Given the description of an element on the screen output the (x, y) to click on. 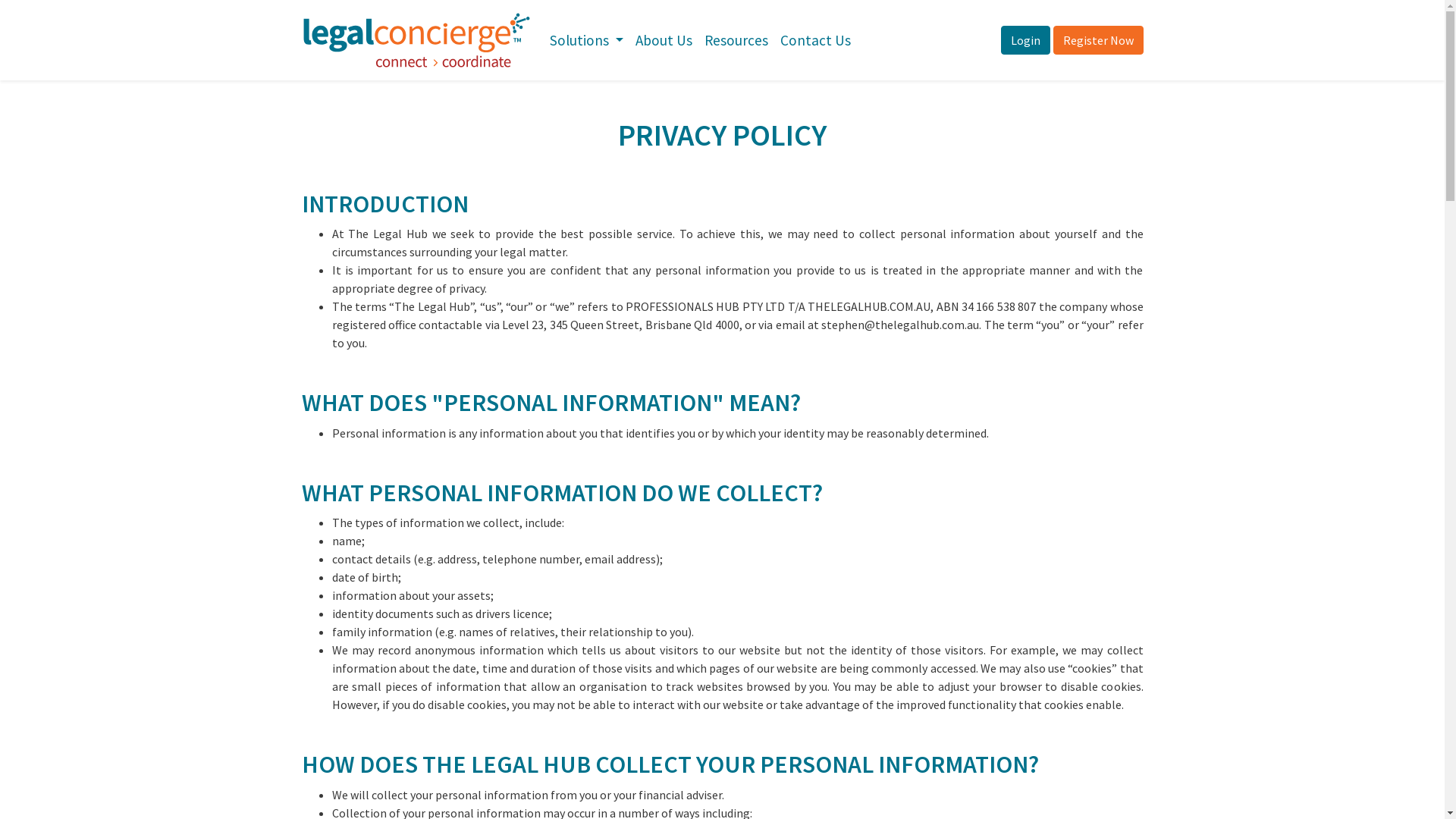
Register Now Element type: text (1097, 39)
Resources Element type: text (736, 40)
Solutions Element type: text (586, 40)
Contact Us Element type: text (815, 40)
Login Element type: text (1025, 39)
About Us Element type: text (663, 40)
